Given the description of an element on the screen output the (x, y) to click on. 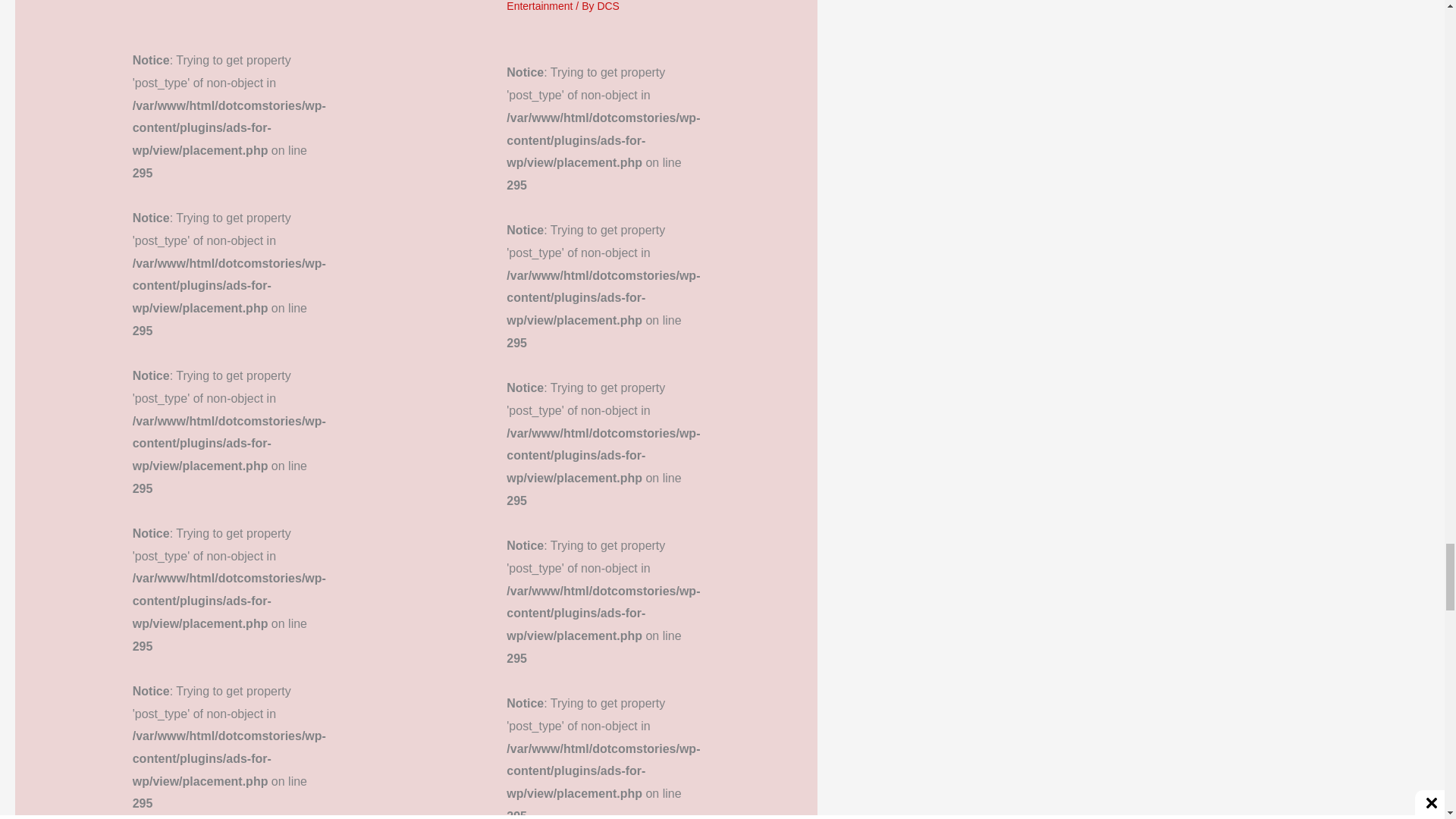
View all posts by DCS (608, 6)
